Given the description of an element on the screen output the (x, y) to click on. 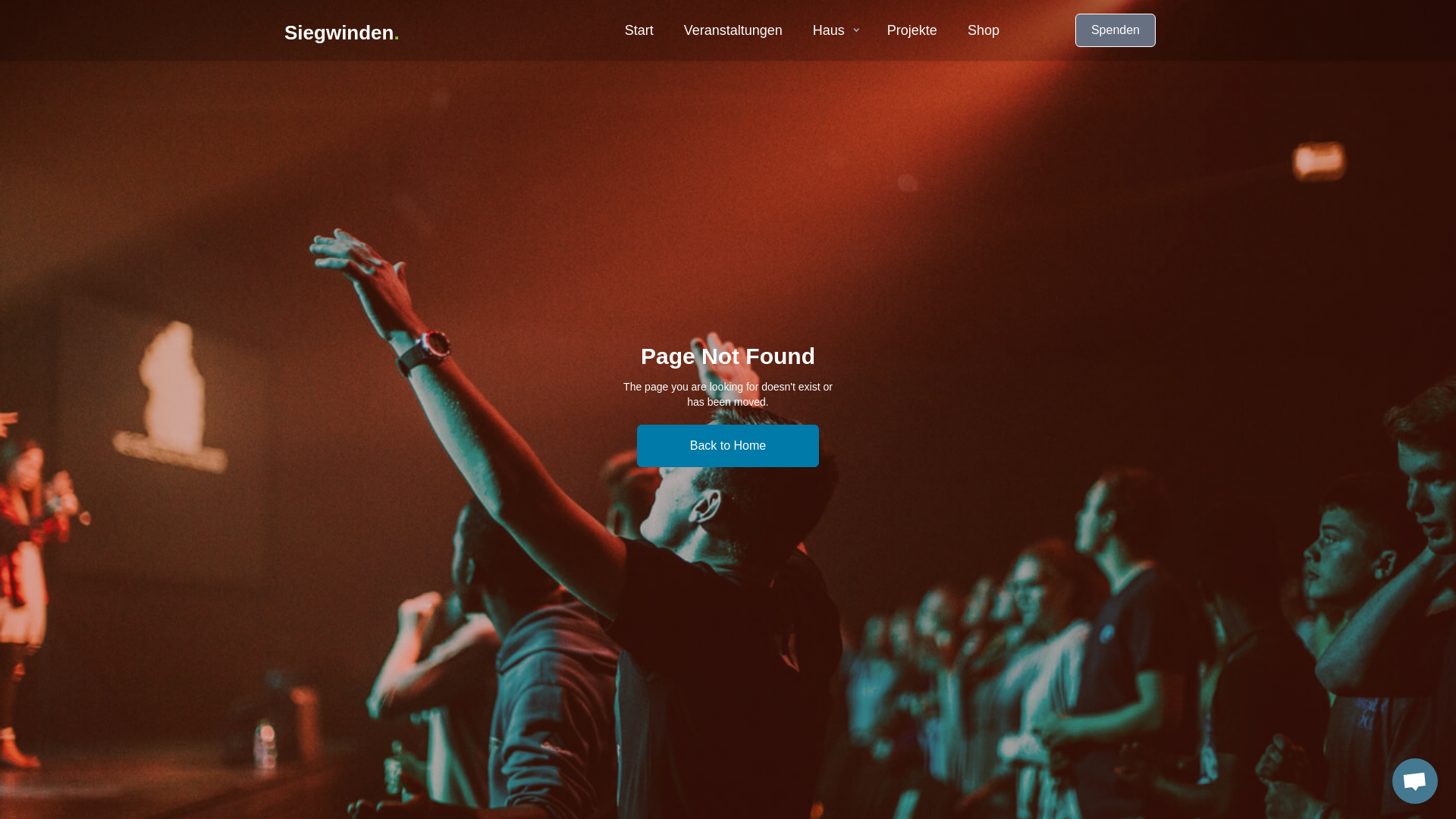
Spenden Element type: text (1115, 30)
Projekte Element type: text (912, 30)
Siegwinden. Element type: text (342, 30)
Veranstaltungen Element type: text (732, 30)
Shop Element type: text (983, 30)
Back to Home Element type: text (728, 445)
Start Element type: text (638, 30)
